Given the description of an element on the screen output the (x, y) to click on. 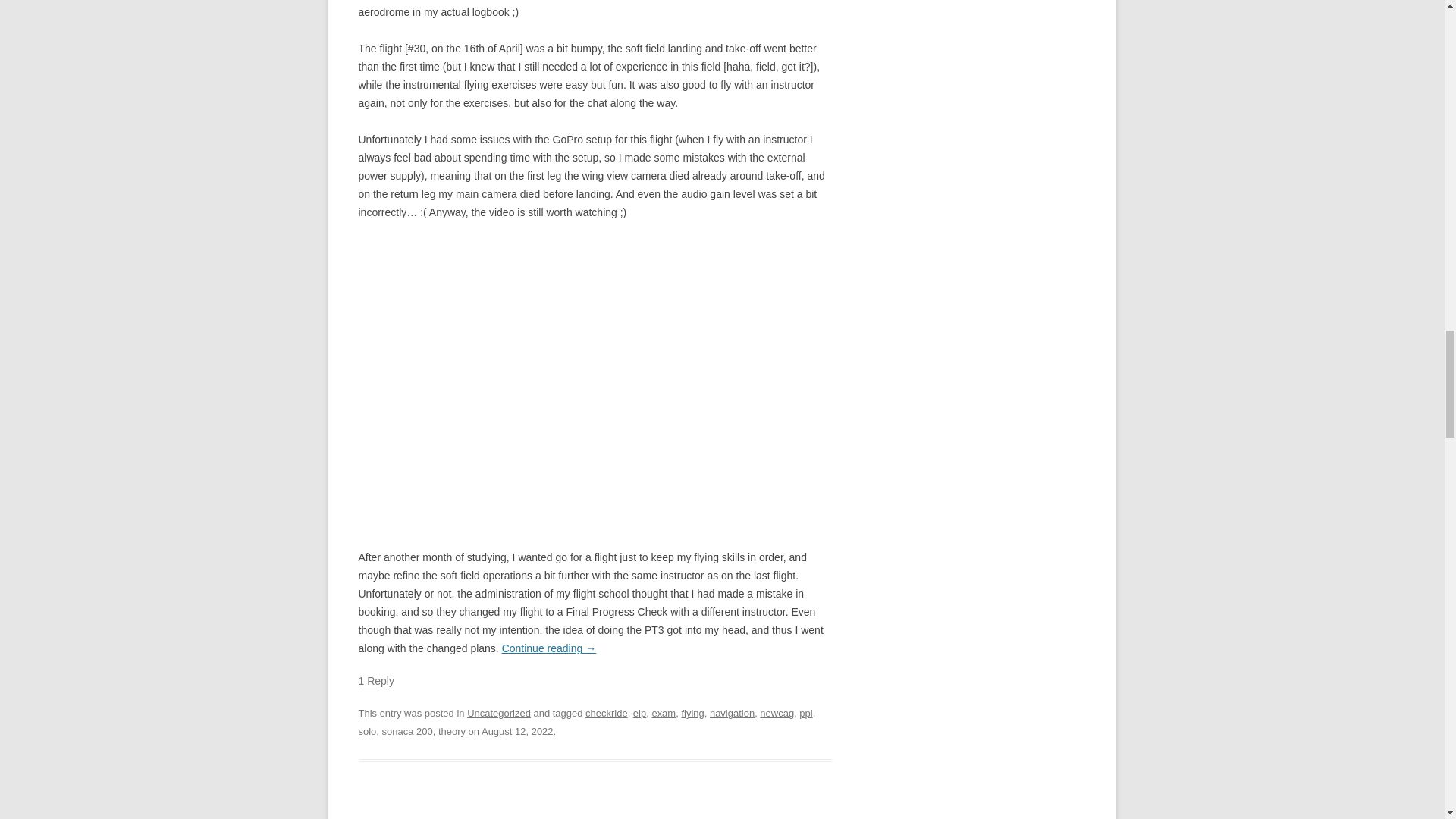
20:37 (517, 731)
